Given the description of an element on the screen output the (x, y) to click on. 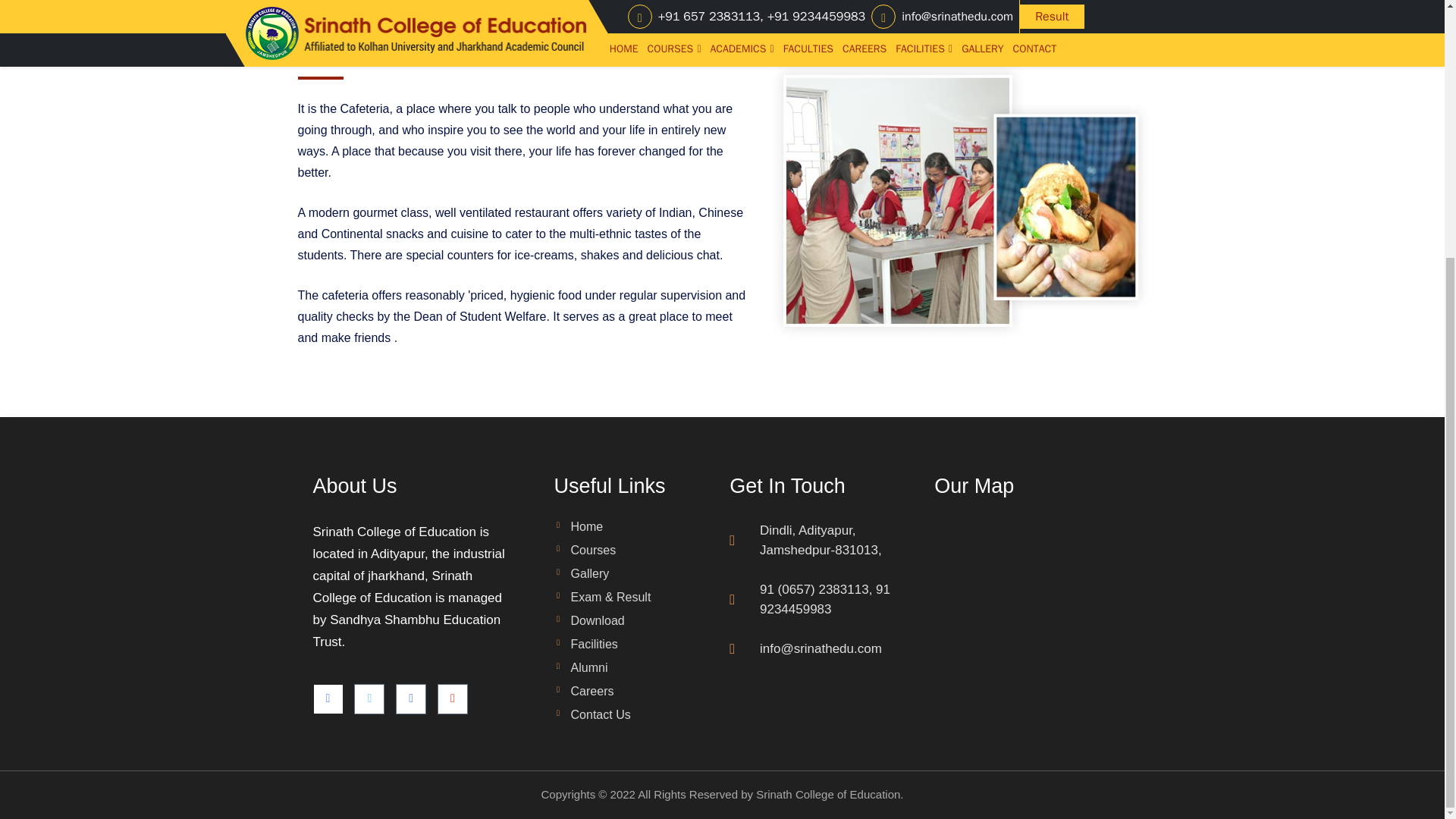
Download (589, 626)
Contact Us (592, 720)
Home (579, 532)
Courses (584, 556)
Alumni (581, 673)
cafeteria (961, 200)
Careers (584, 697)
Gallery (582, 579)
Facilities (585, 649)
Dindli,  Adityapur, Jamshedpur-831013 (1036, 617)
